Given the description of an element on the screen output the (x, y) to click on. 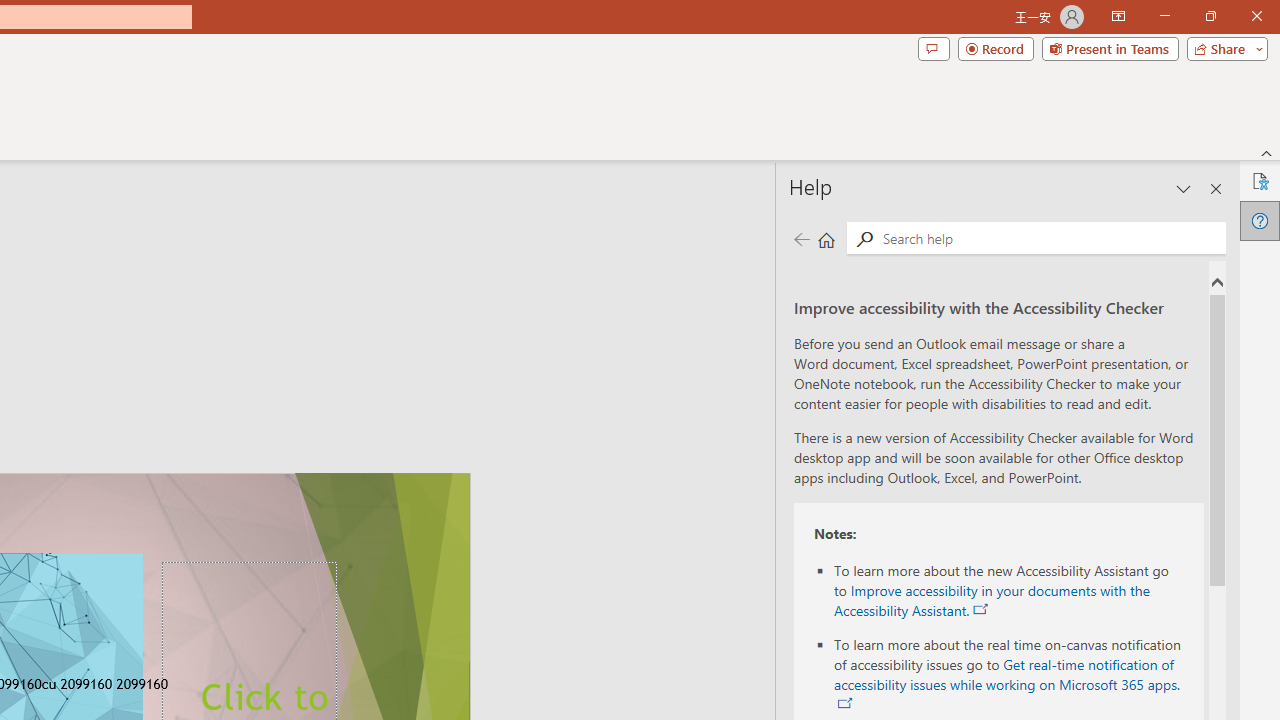
Previous page (801, 238)
